Given the description of an element on the screen output the (x, y) to click on. 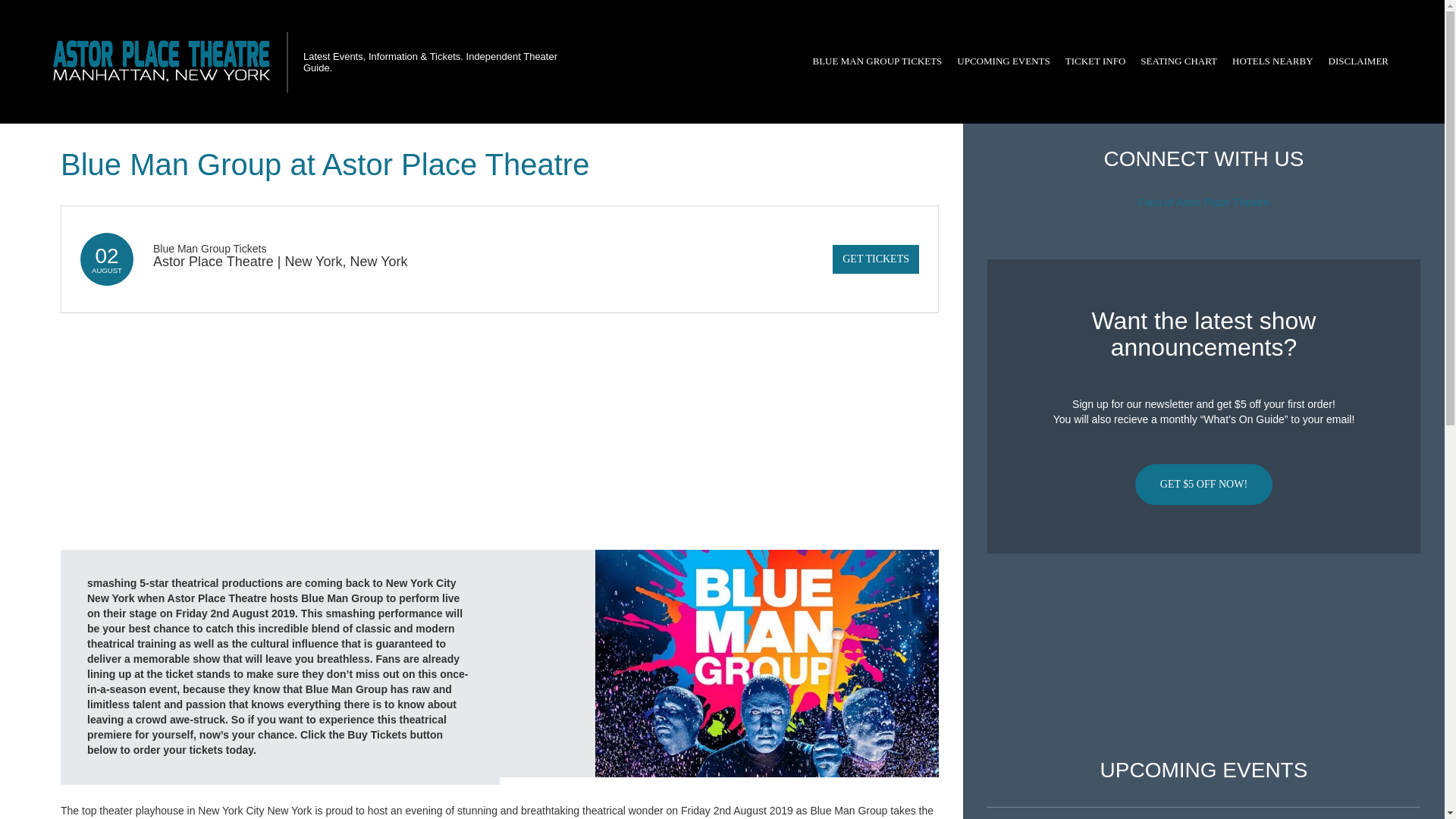
BLUE MAN GROUP TICKETS (877, 61)
SEATING CHART (1178, 61)
Blue Man Group Tickets (209, 248)
Blue Man Group at Astor Place Theatre (767, 663)
UPCOMING EVENTS (1003, 61)
GET TICKETS (875, 258)
TICKET INFO (1096, 61)
DISCLAIMER (1358, 61)
Fans of Astor Place Theatre (1203, 202)
HOTELS NEARBY (1272, 61)
